Given the description of an element on the screen output the (x, y) to click on. 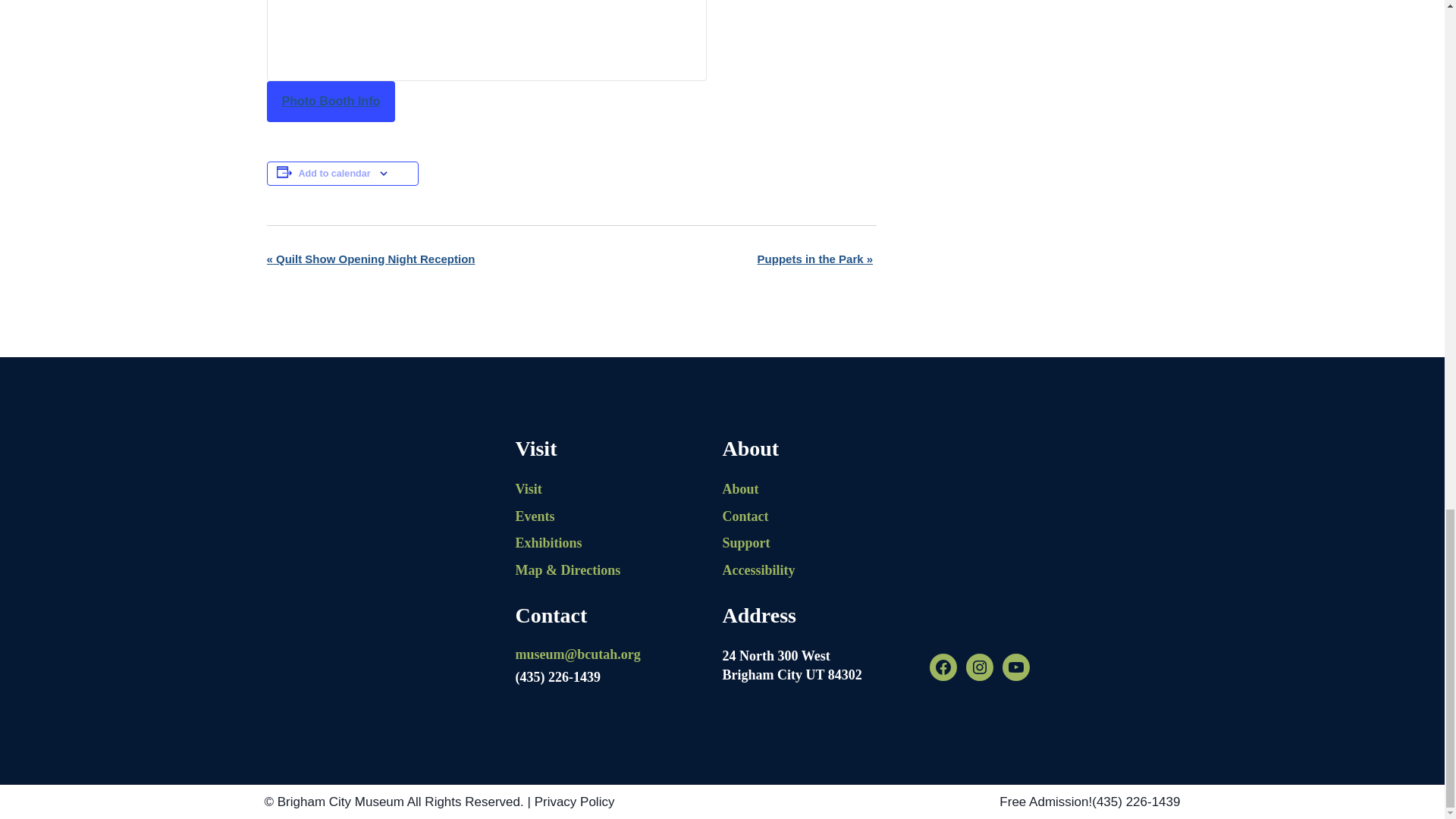
Events (618, 515)
Visit (618, 488)
Add to calendar (334, 173)
Exhibitions (618, 543)
Photo Booth Info (331, 101)
